Given the description of an element on the screen output the (x, y) to click on. 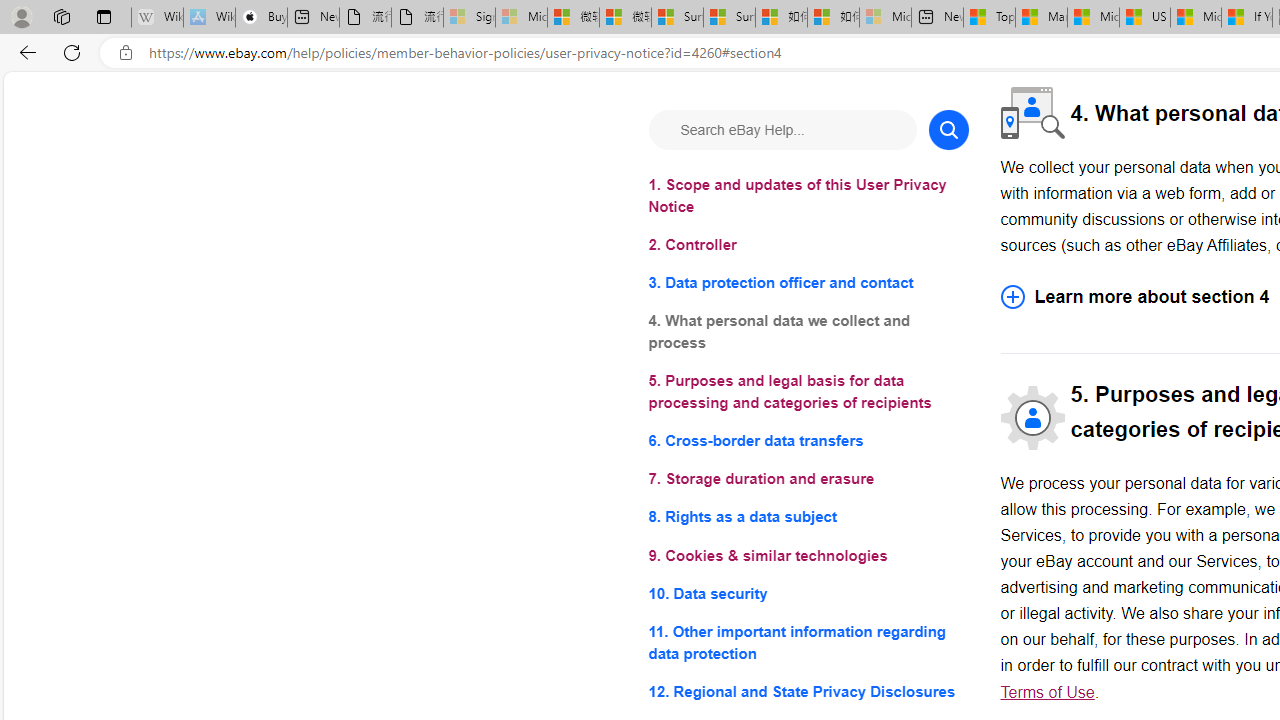
2. Controller (807, 245)
8. Rights as a data subject (807, 517)
8. Rights as a data subject (807, 517)
Sign in to your Microsoft account - Sleeping (469, 17)
4. What personal data we collect and process (807, 332)
9. Cookies & similar technologies (807, 555)
12. Regional and State Privacy Disclosures (807, 690)
1. Scope and updates of this User Privacy Notice (807, 196)
4. What personal data we collect and process (807, 332)
12. Regional and State Privacy Disclosures (807, 690)
